Given the description of an element on the screen output the (x, y) to click on. 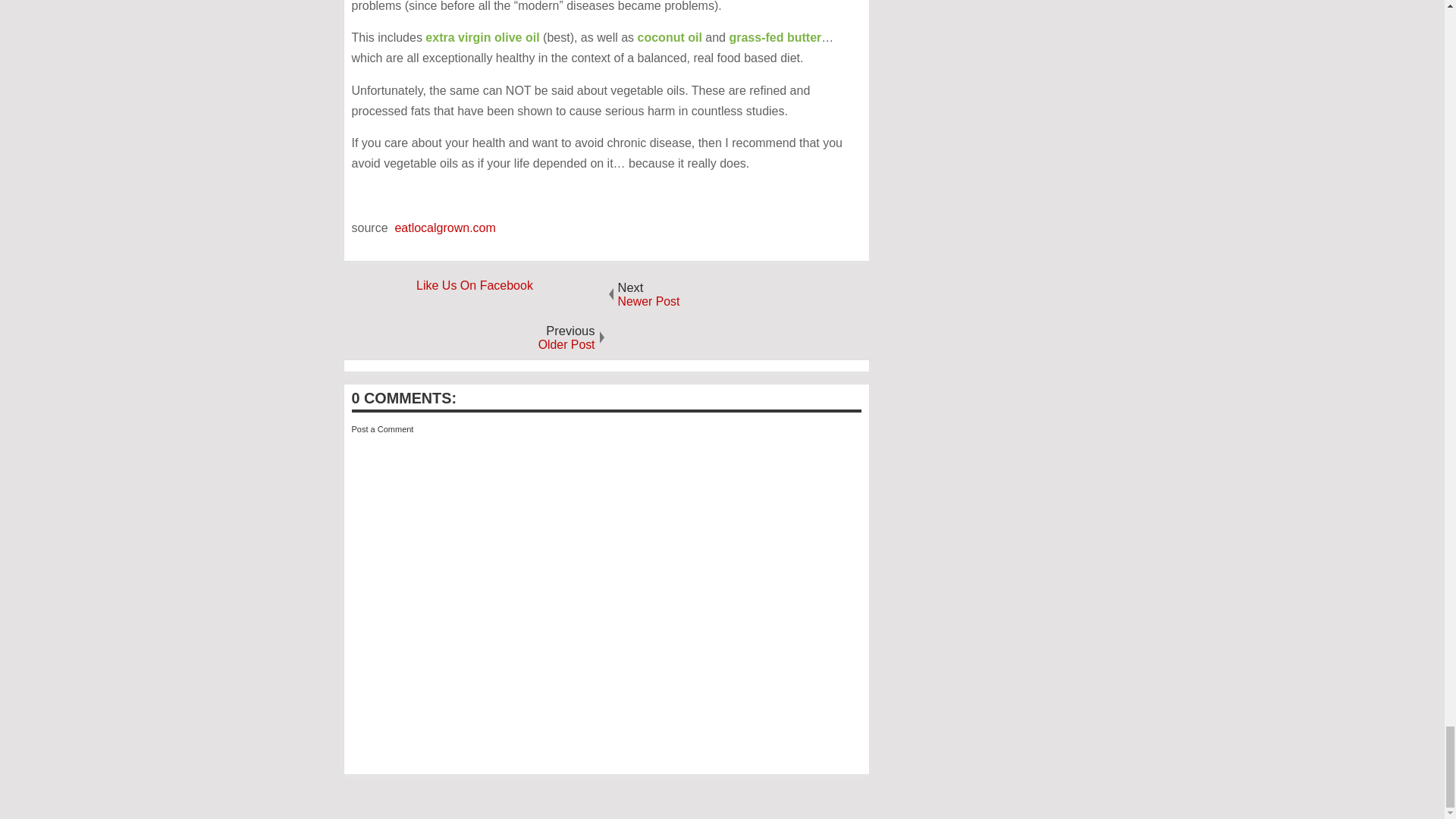
Newer Post (738, 294)
Older Post (473, 337)
